Given the description of an element on the screen output the (x, y) to click on. 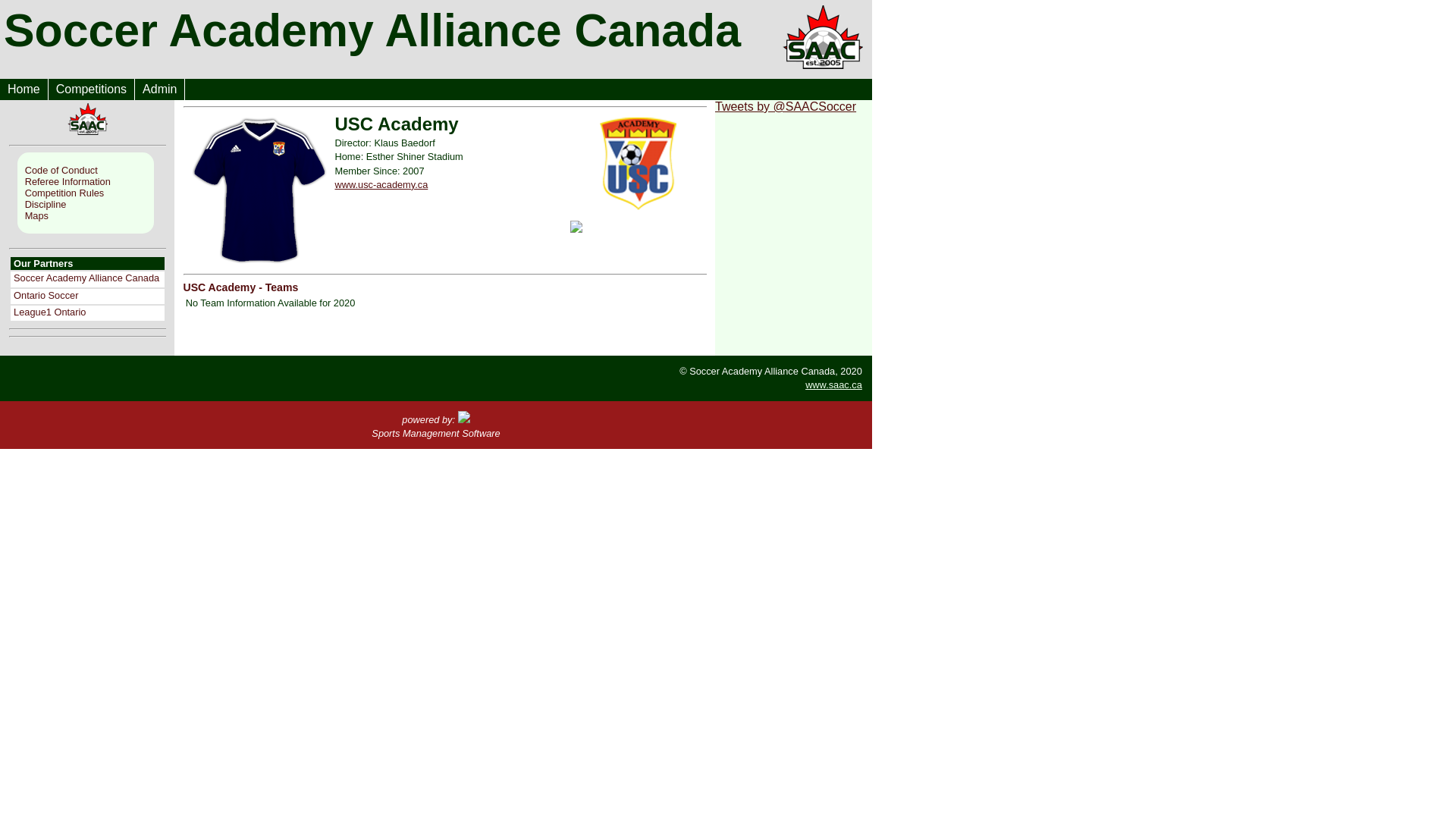
Code of Conduct Element type: text (89, 169)
Discipline Element type: text (89, 204)
League1 Ontario Element type: text (49, 311)
Maps Element type: text (89, 215)
Tweets by @SAACSoccer Element type: text (785, 106)
Admin Element type: text (159, 89)
www.saac.ca Element type: text (833, 384)
Competition Rules Element type: text (89, 192)
Competitions Element type: text (91, 89)
Referee Information Element type: text (89, 181)
Ontario Soccer Element type: text (45, 295)
Home Element type: text (24, 89)
www.usc-academy.ca Element type: text (381, 184)
Soccer Academy Alliance Canada Element type: text (86, 277)
